Given the description of an element on the screen output the (x, y) to click on. 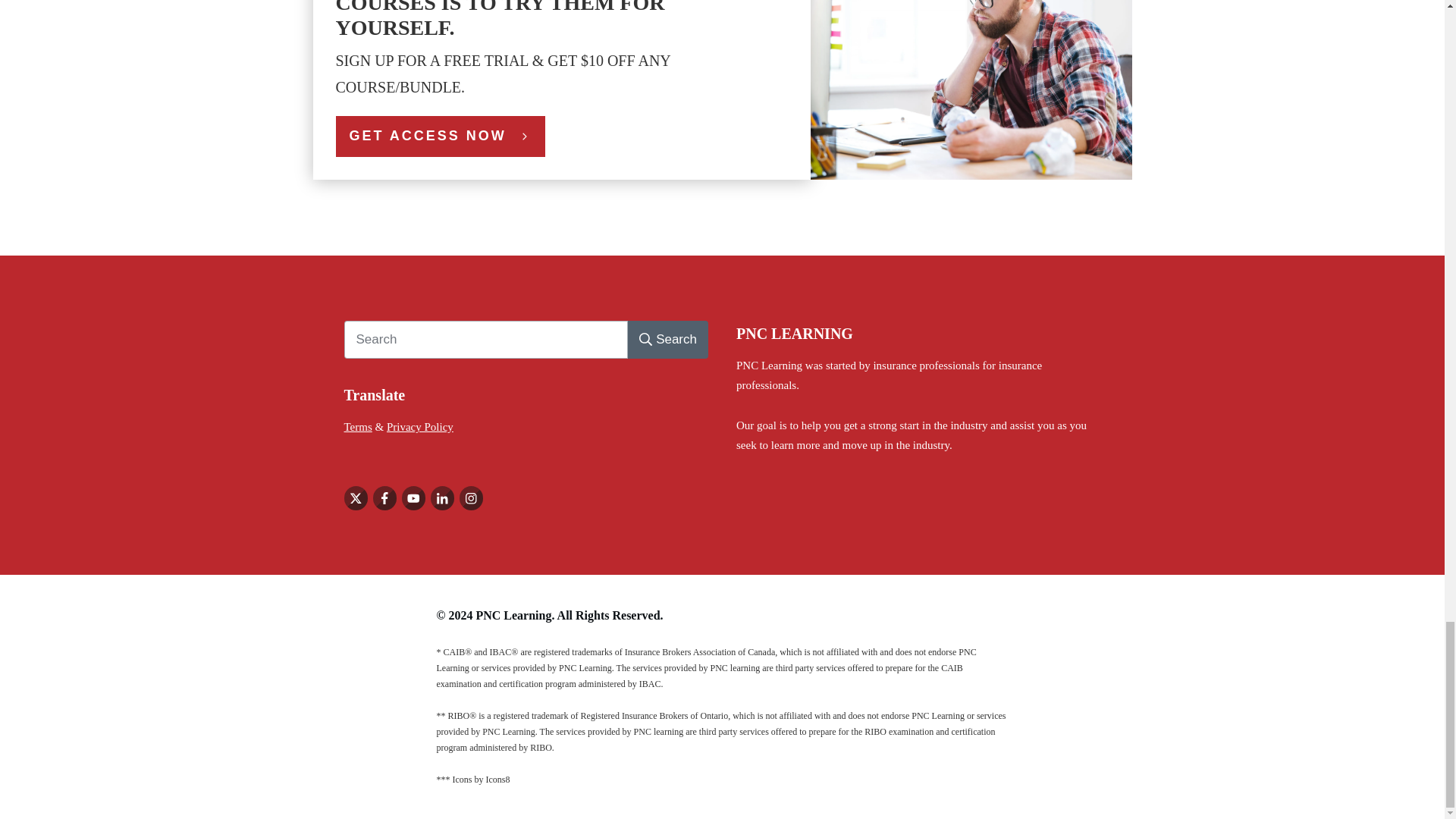
GET ACCESS NOW (439, 136)
